Given the description of an element on the screen output the (x, y) to click on. 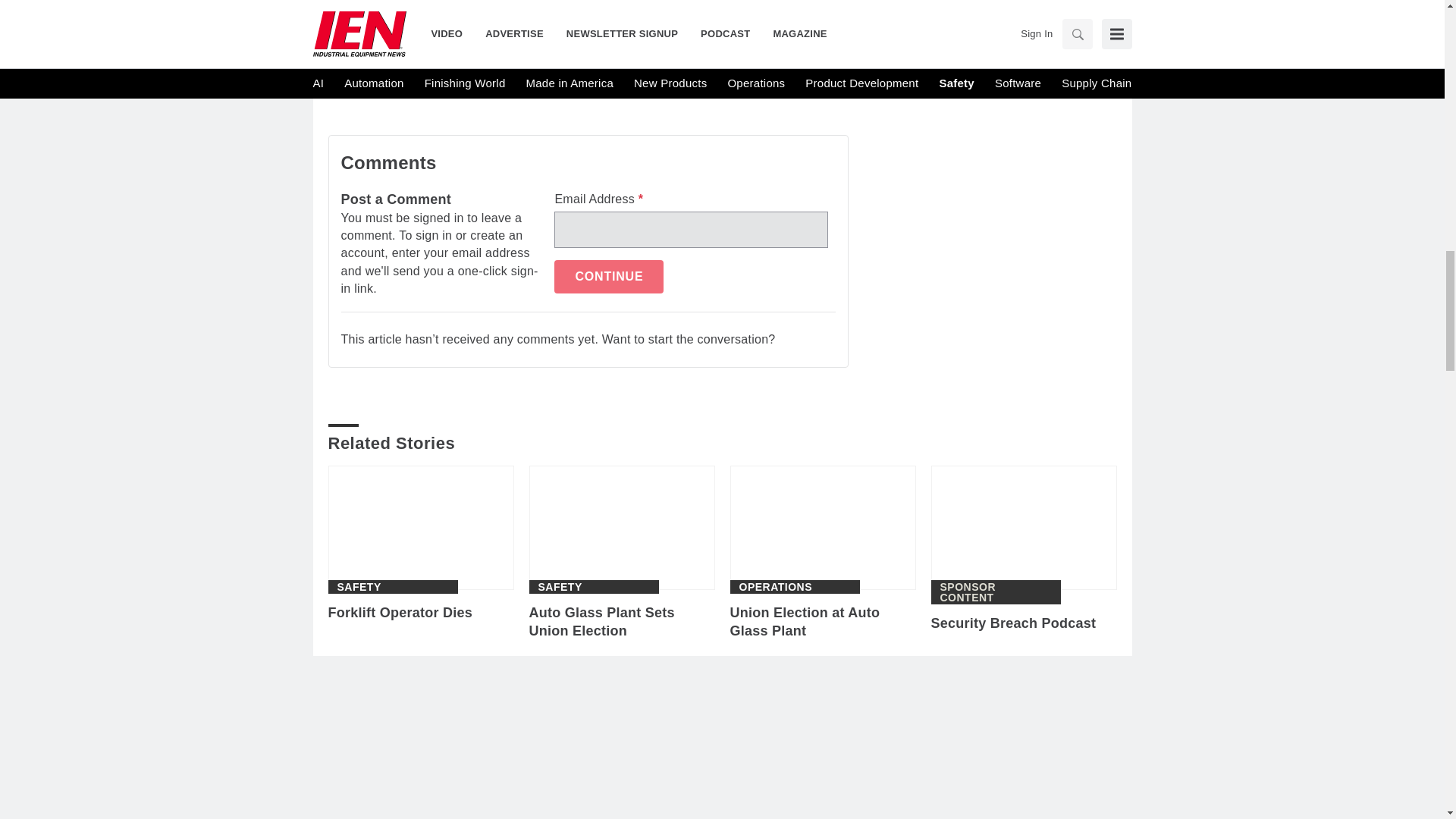
Share To twitter (460, 71)
Share To print (342, 71)
Share To linkedin (421, 71)
Share To pinterest (499, 71)
Share To facebook (381, 71)
